Given the description of an element on the screen output the (x, y) to click on. 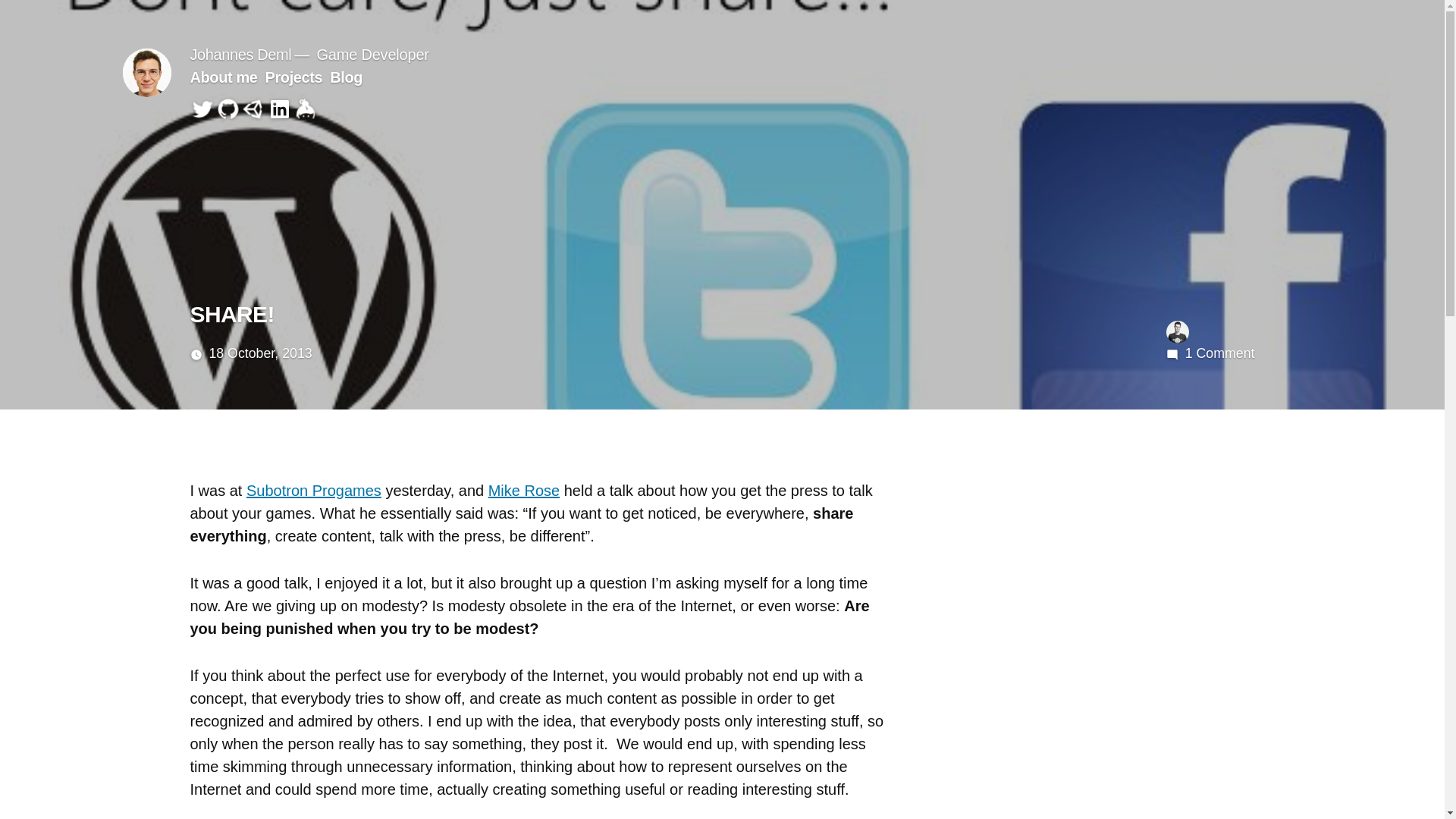
Blog (346, 76)
Mike Rose (523, 490)
Subotron Progames (313, 490)
About me (223, 76)
keybase (304, 109)
Subotorn Progames Website (313, 490)
Linked in (278, 109)
18 October, 2013 (259, 353)
unity (252, 109)
Github (227, 109)
